Given the description of an element on the screen output the (x, y) to click on. 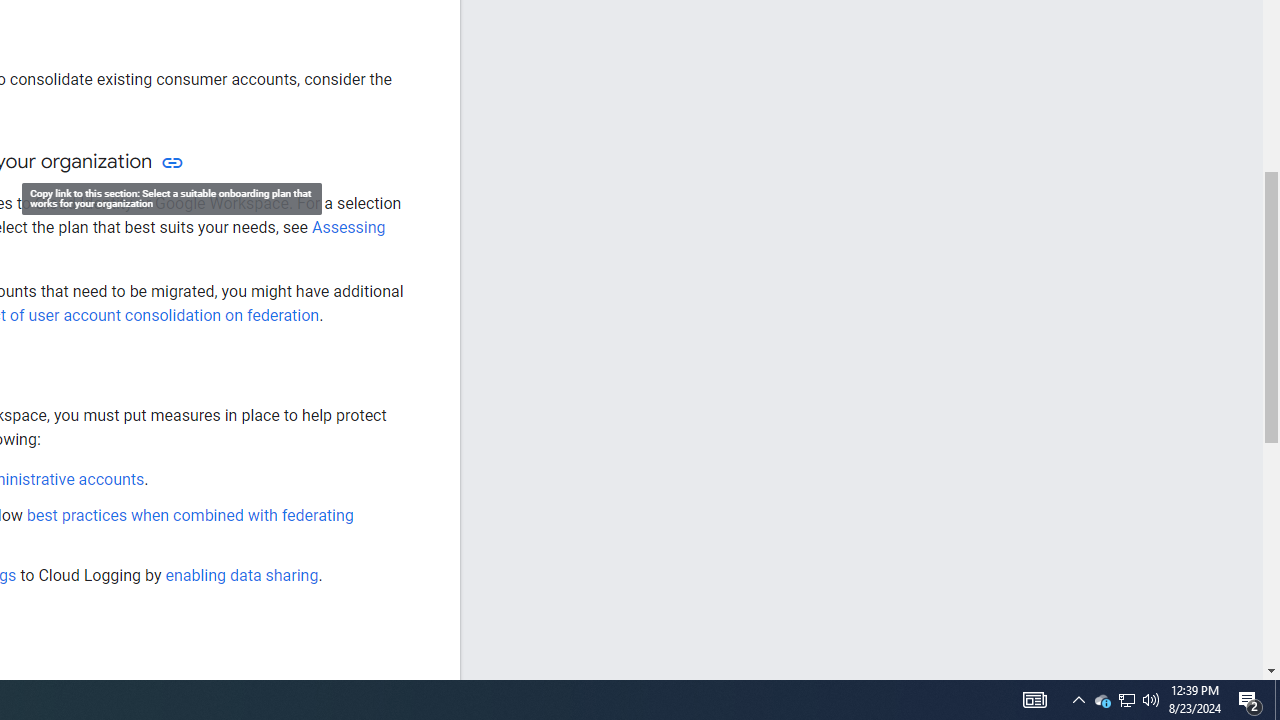
enabling data sharing (241, 574)
